Given the description of an element on the screen output the (x, y) to click on. 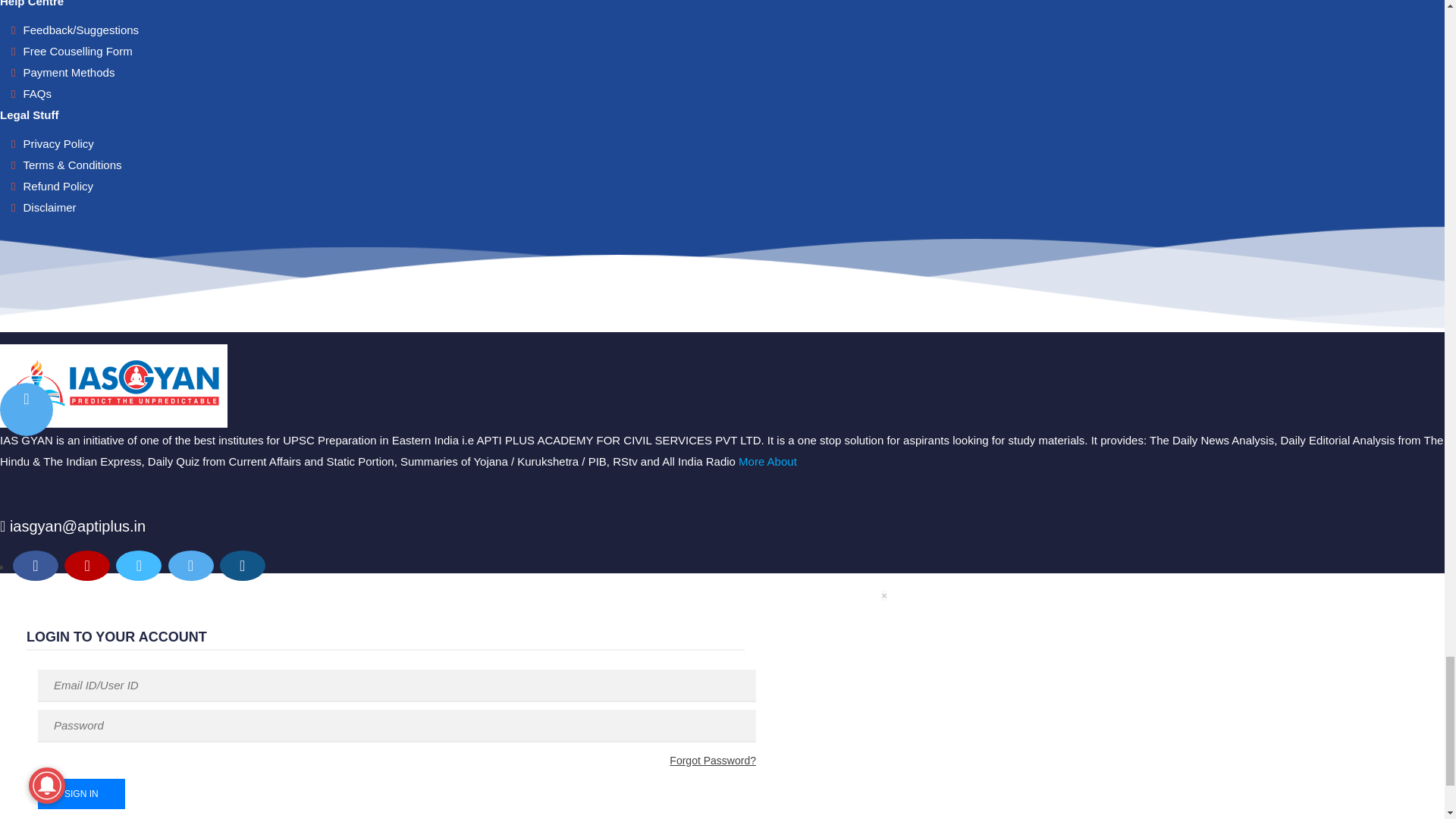
Sign In (81, 793)
